Given the description of an element on the screen output the (x, y) to click on. 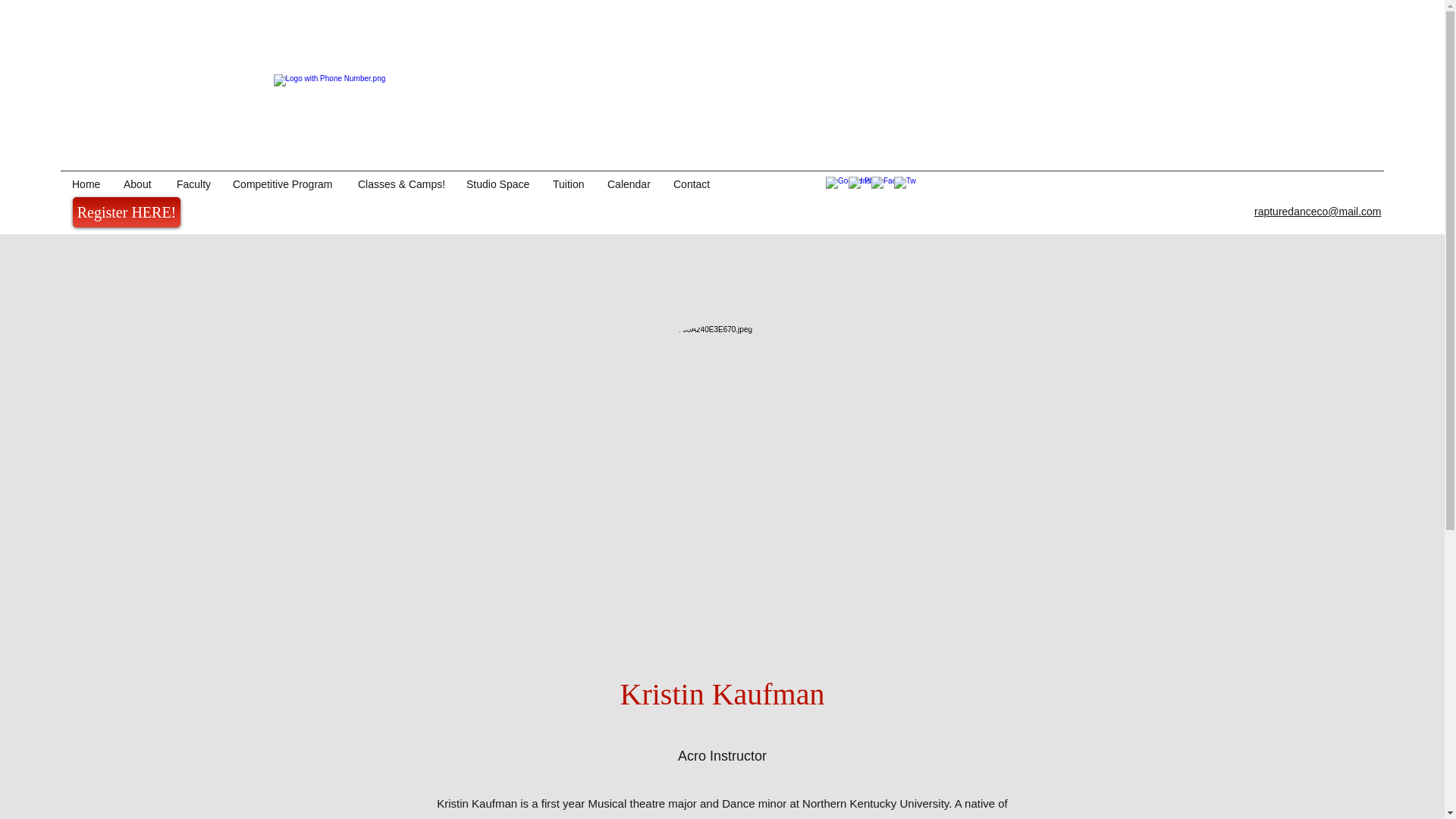
About (138, 184)
Studio Space (497, 184)
Tuition (568, 184)
Calendar (628, 184)
Home (86, 184)
Competitive Program (283, 184)
Contact (692, 184)
Register HERE! (126, 212)
Faculty (193, 184)
